Given the description of an element on the screen output the (x, y) to click on. 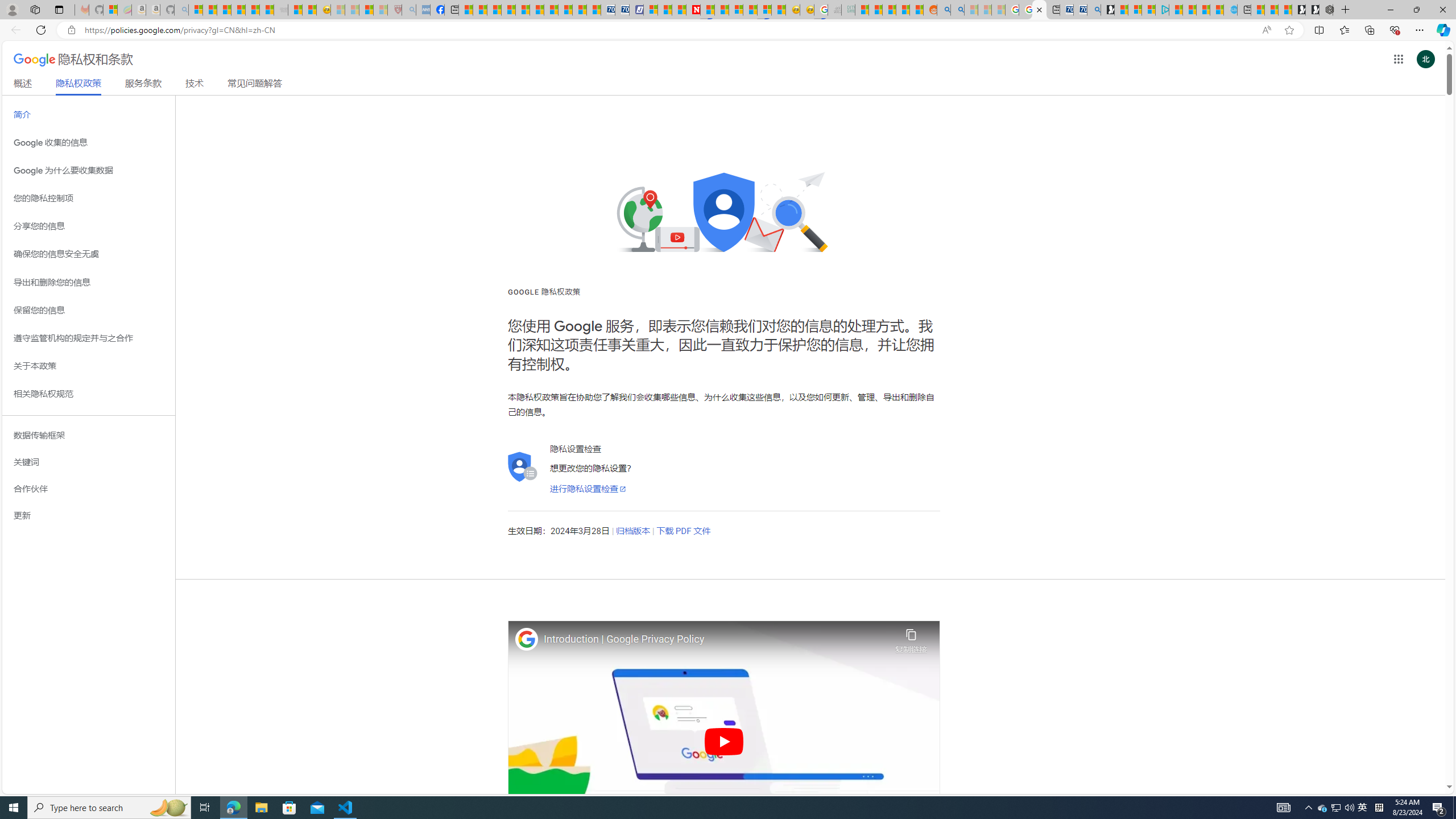
Class: gb_E (1398, 59)
